Given the description of an element on the screen output the (x, y) to click on. 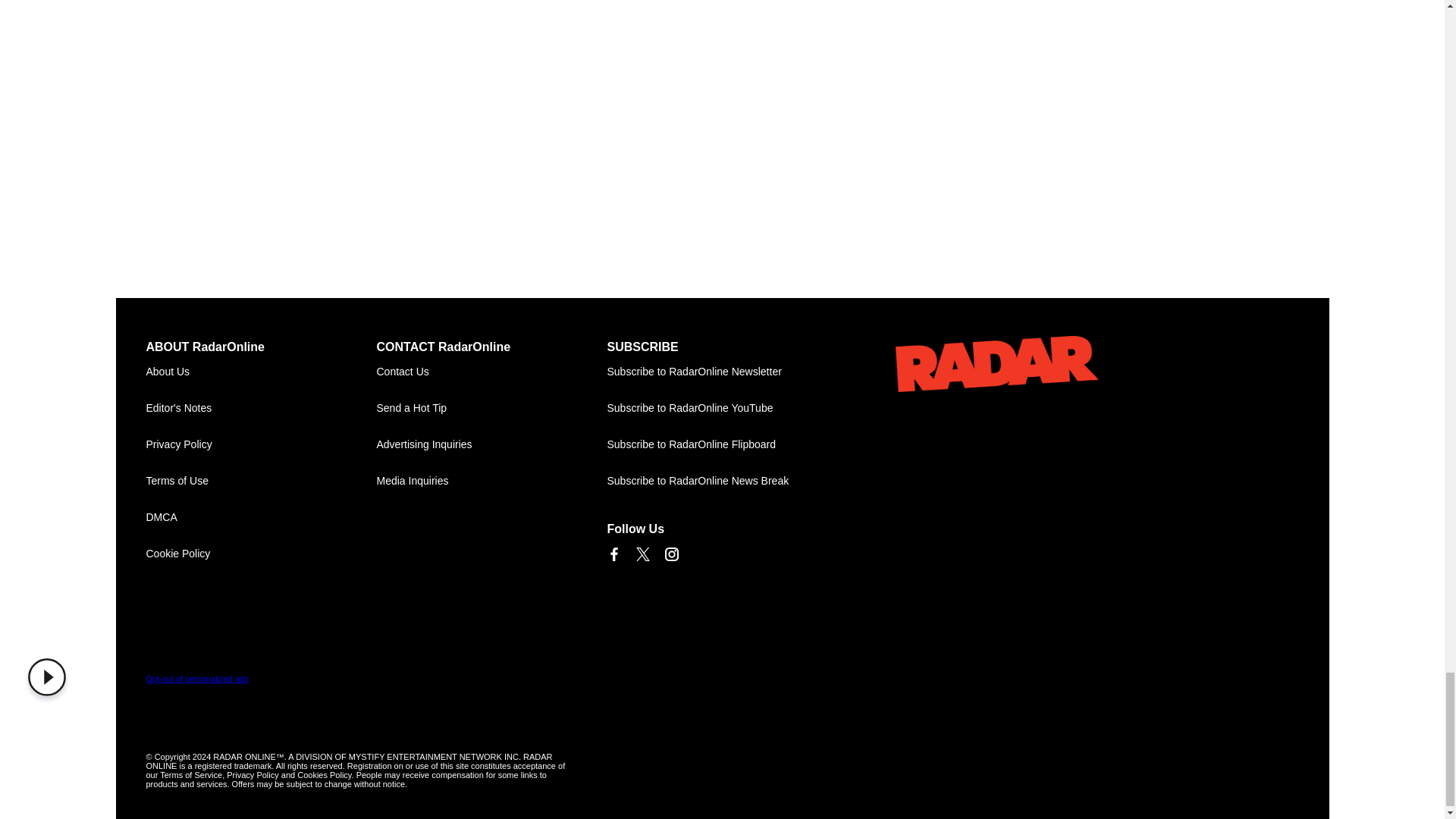
Link to X (641, 554)
Link to Facebook (613, 554)
Contact Us (491, 371)
DMCA (260, 517)
About Us (260, 371)
Link to Instagram (670, 554)
Cookie Policy (260, 554)
Terms of Use (260, 481)
Privacy Policy (260, 444)
Send a Hot Tip (491, 408)
Editor's Notes (260, 408)
